Given the description of an element on the screen output the (x, y) to click on. 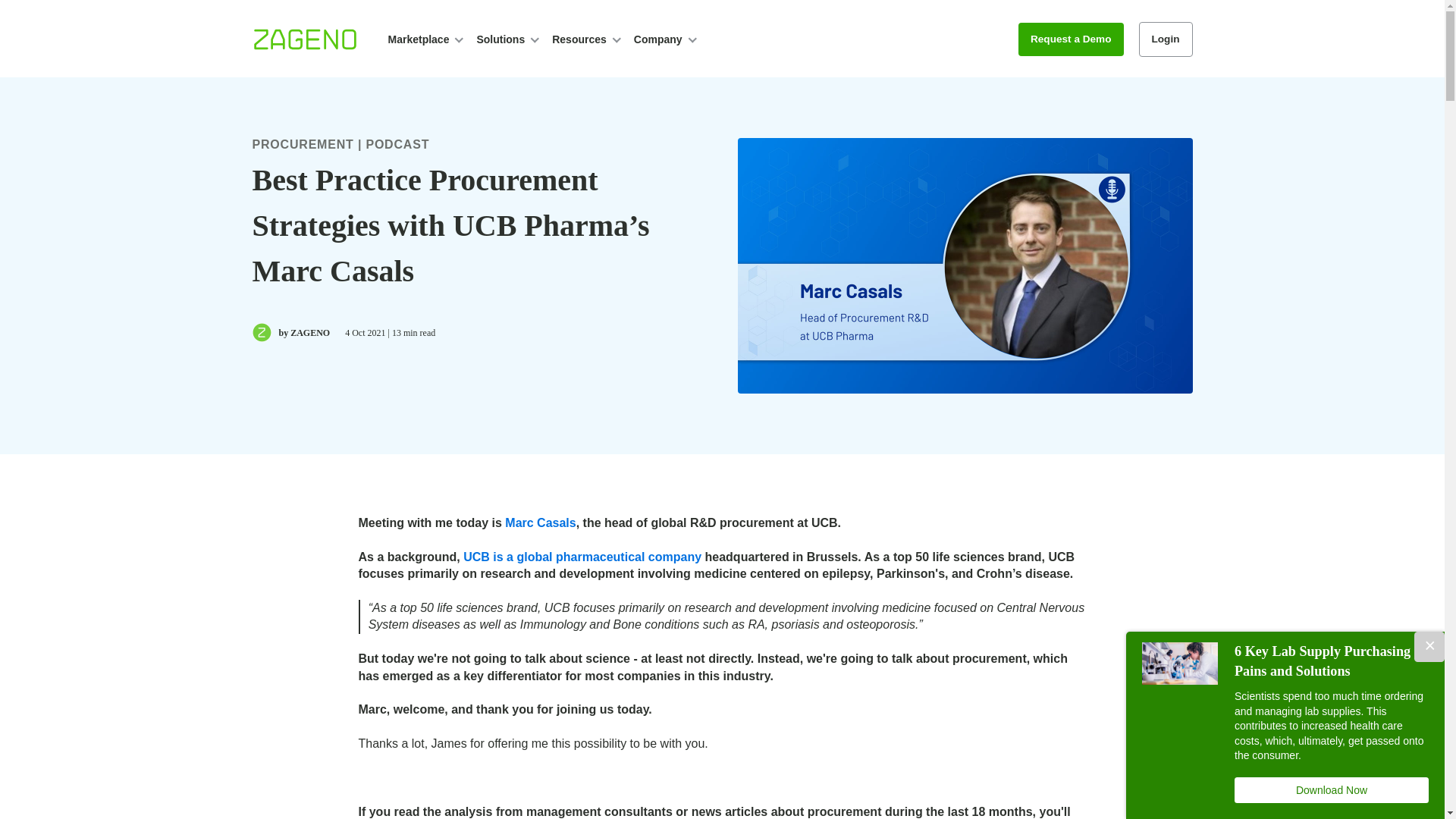
zageno.png (303, 39)
